Given the description of an element on the screen output the (x, y) to click on. 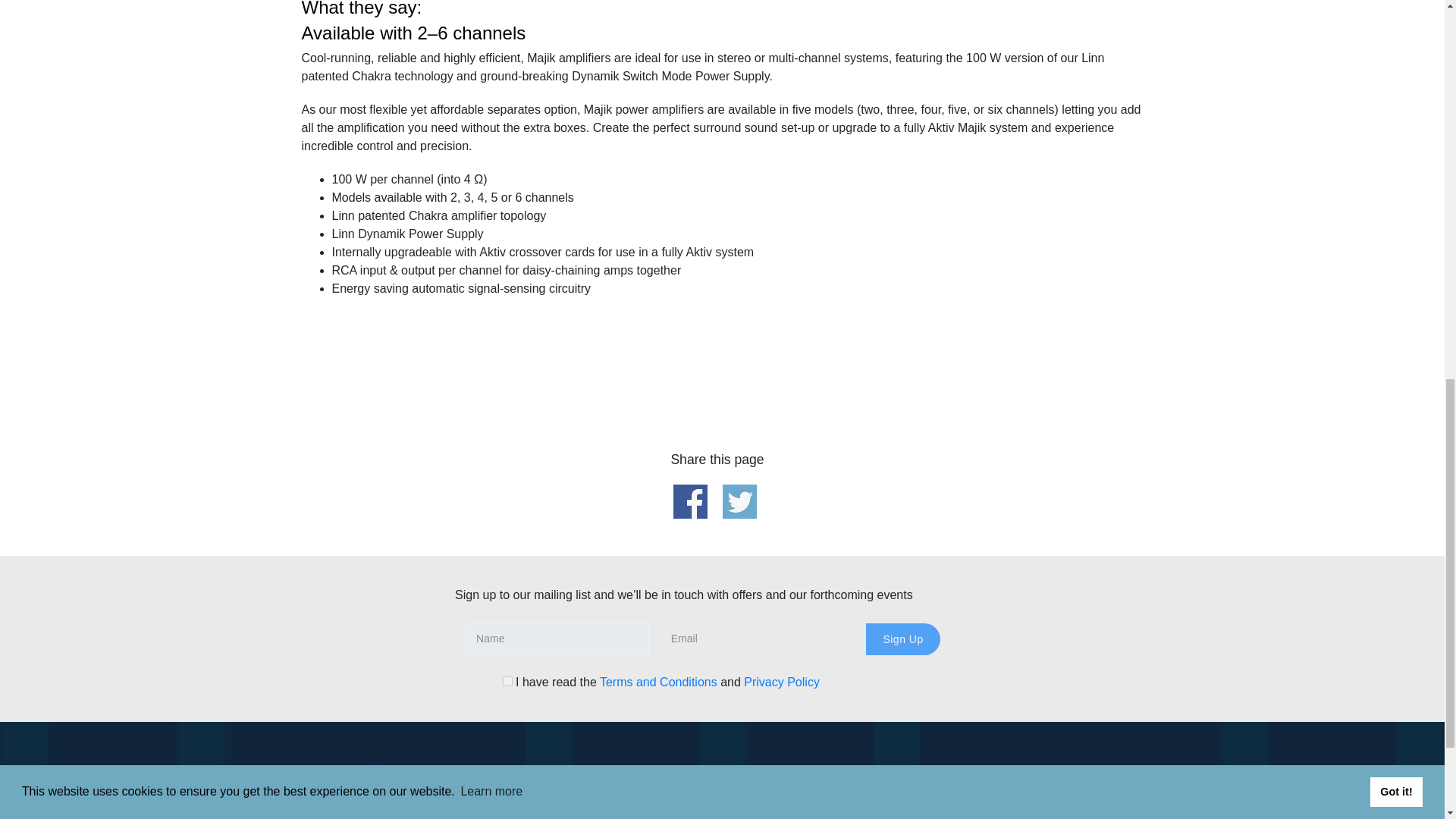
check (507, 681)
